Given the description of an element on the screen output the (x, y) to click on. 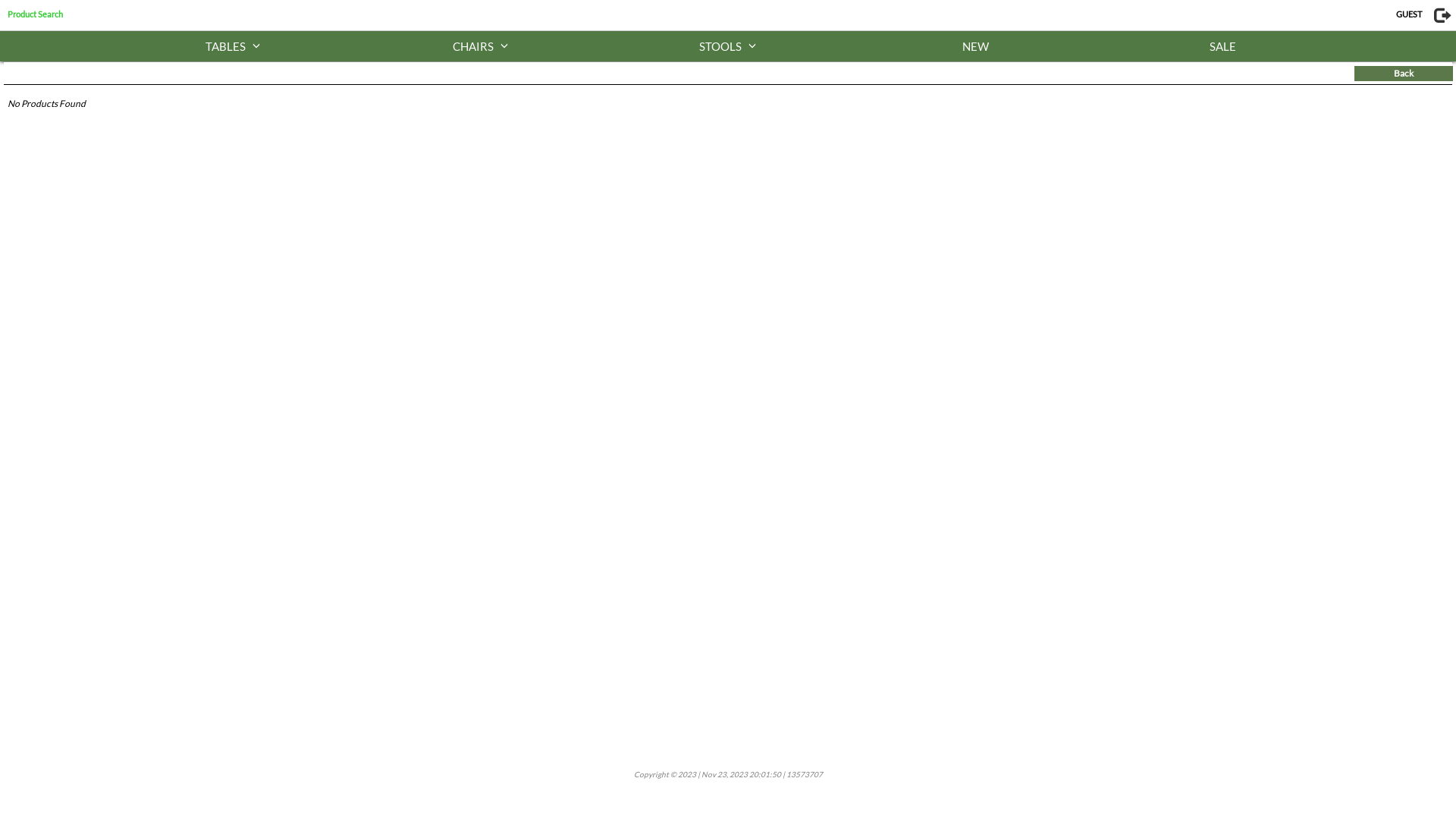
Product Search Element type: text (35, 14)
Back Element type: text (1403, 73)
NEW Element type: text (975, 45)
TABLES Element type: text (232, 45)
STOOLS Element type: text (727, 45)
SALE Element type: text (1223, 45)
CHAIRS Element type: text (479, 45)
